Given the description of an element on the screen output the (x, y) to click on. 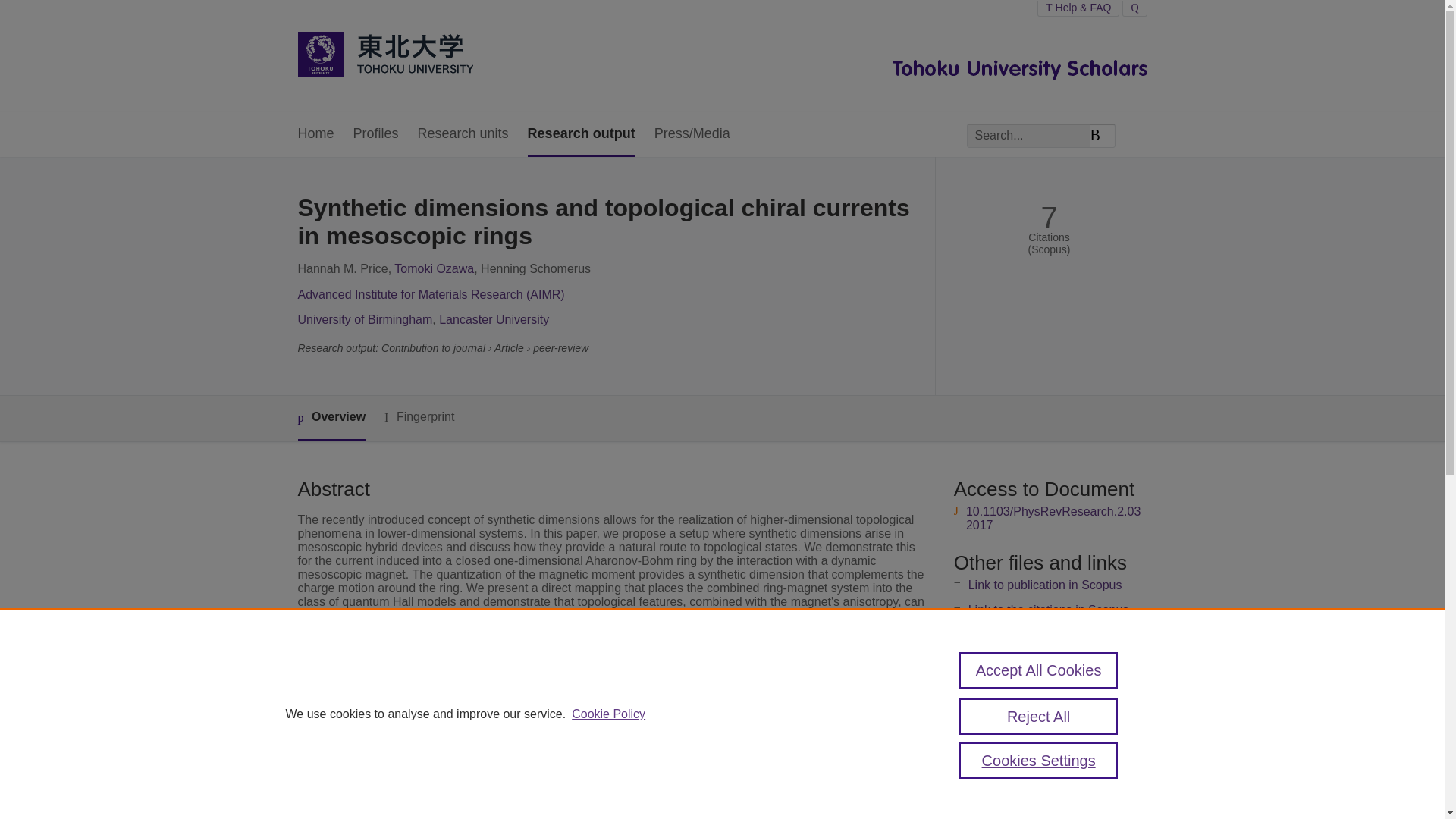
Overview (331, 417)
Fingerprint (419, 416)
Physical Review Research (581, 702)
Link to publication in Scopus (1045, 584)
Tomoki Ozawa (434, 268)
Profiles (375, 134)
Research units (462, 134)
Tohoku University Home (384, 55)
Research output (580, 134)
